Given the description of an element on the screen output the (x, y) to click on. 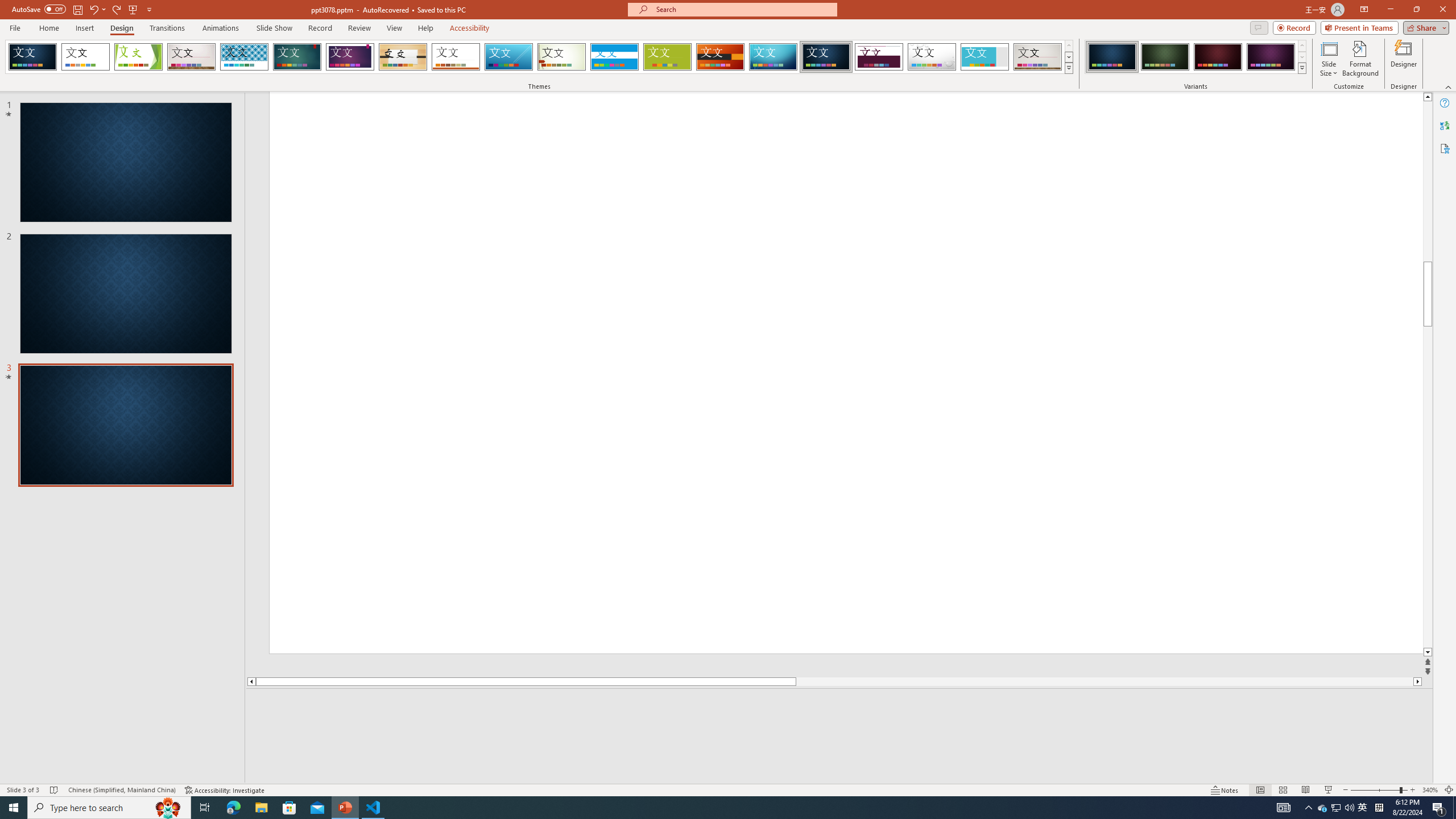
Slice (508, 56)
Damask Variant 3 (1217, 56)
Damask Variant 4 (1270, 56)
Damask Variant 1 (1112, 56)
